Given the description of an element on the screen output the (x, y) to click on. 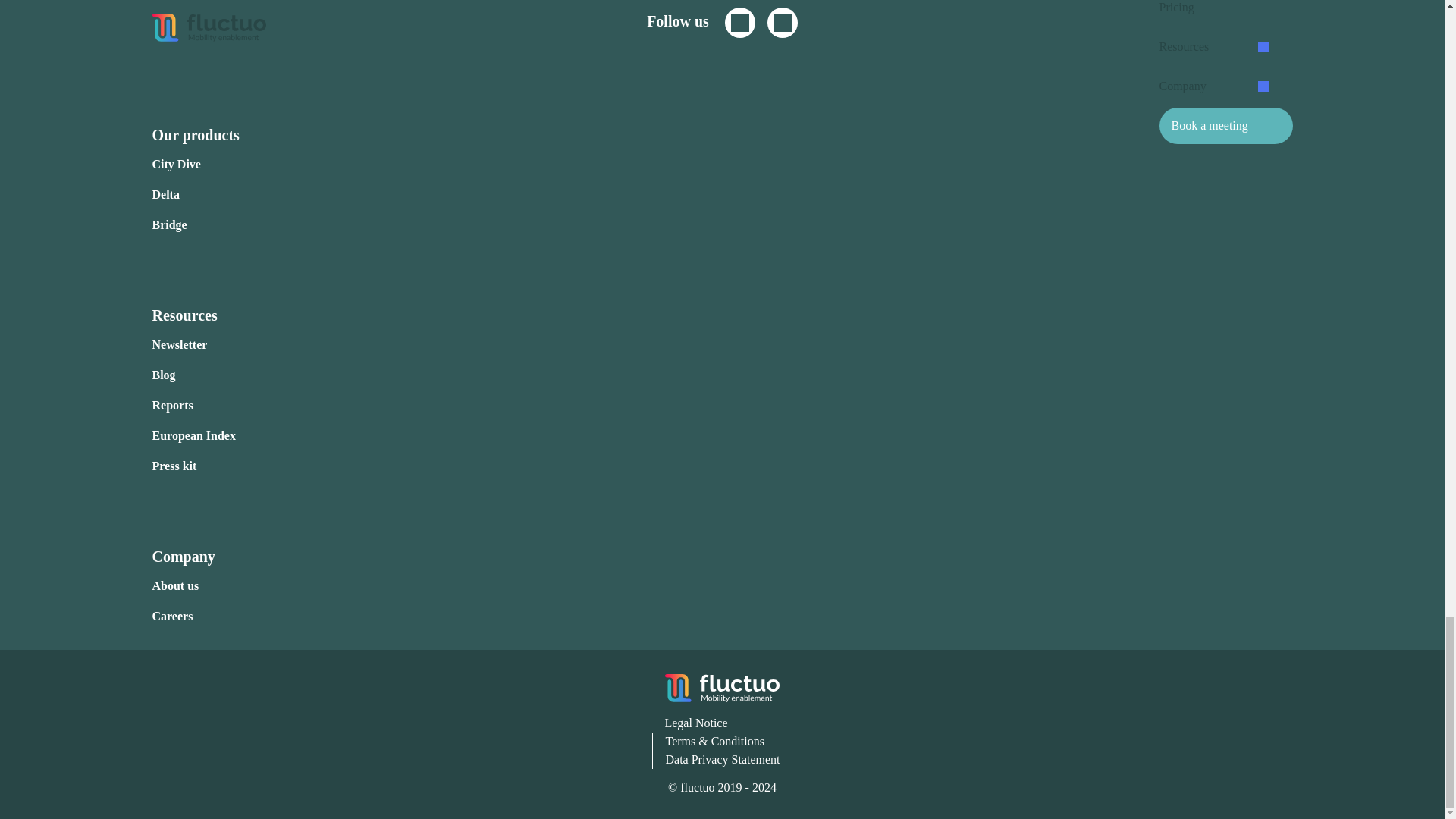
Newsletter (178, 344)
Press kit (173, 465)
Reports (171, 404)
About us (174, 585)
Twitter (740, 22)
Delta (165, 194)
Linkedin (782, 22)
European Index (192, 435)
City Dive (175, 164)
Blog (162, 374)
Legal Notice (694, 722)
Careers (171, 615)
Bridge (168, 224)
